Given the description of an element on the screen output the (x, y) to click on. 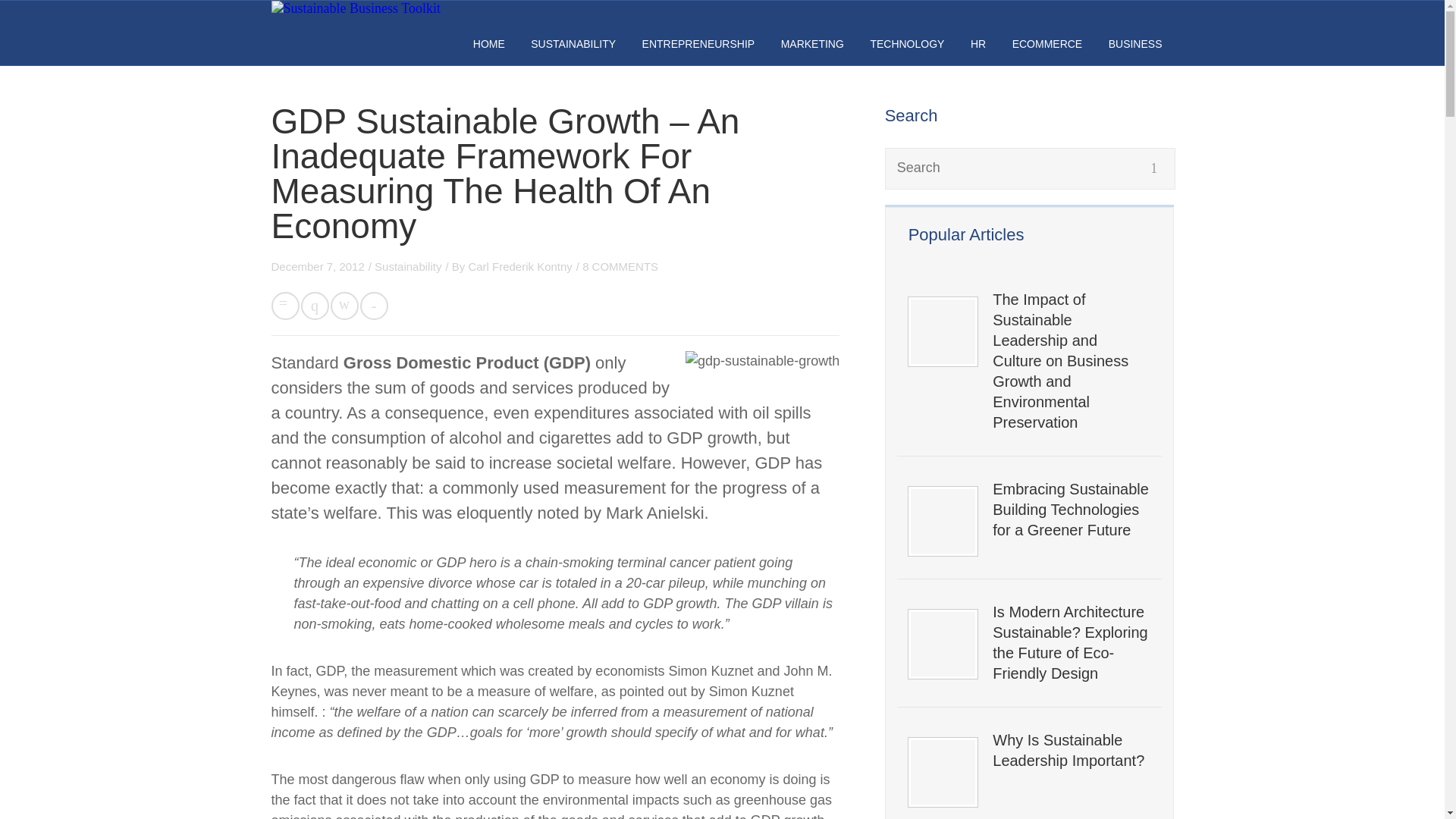
SUSTAINABILITY (573, 43)
8 COMMENTS (620, 266)
ENTREPRENEURSHIP (698, 43)
Carl Frederik Kontny (519, 266)
TECHNOLOGY (906, 43)
Why Is Sustainable Leadership Important? (1071, 750)
gdp-sustainable-growth (762, 361)
ECOMMERCE (1047, 43)
HR (978, 43)
BUSINESS (1134, 43)
MARKETING (812, 43)
HOME (489, 43)
